Given the description of an element on the screen output the (x, y) to click on. 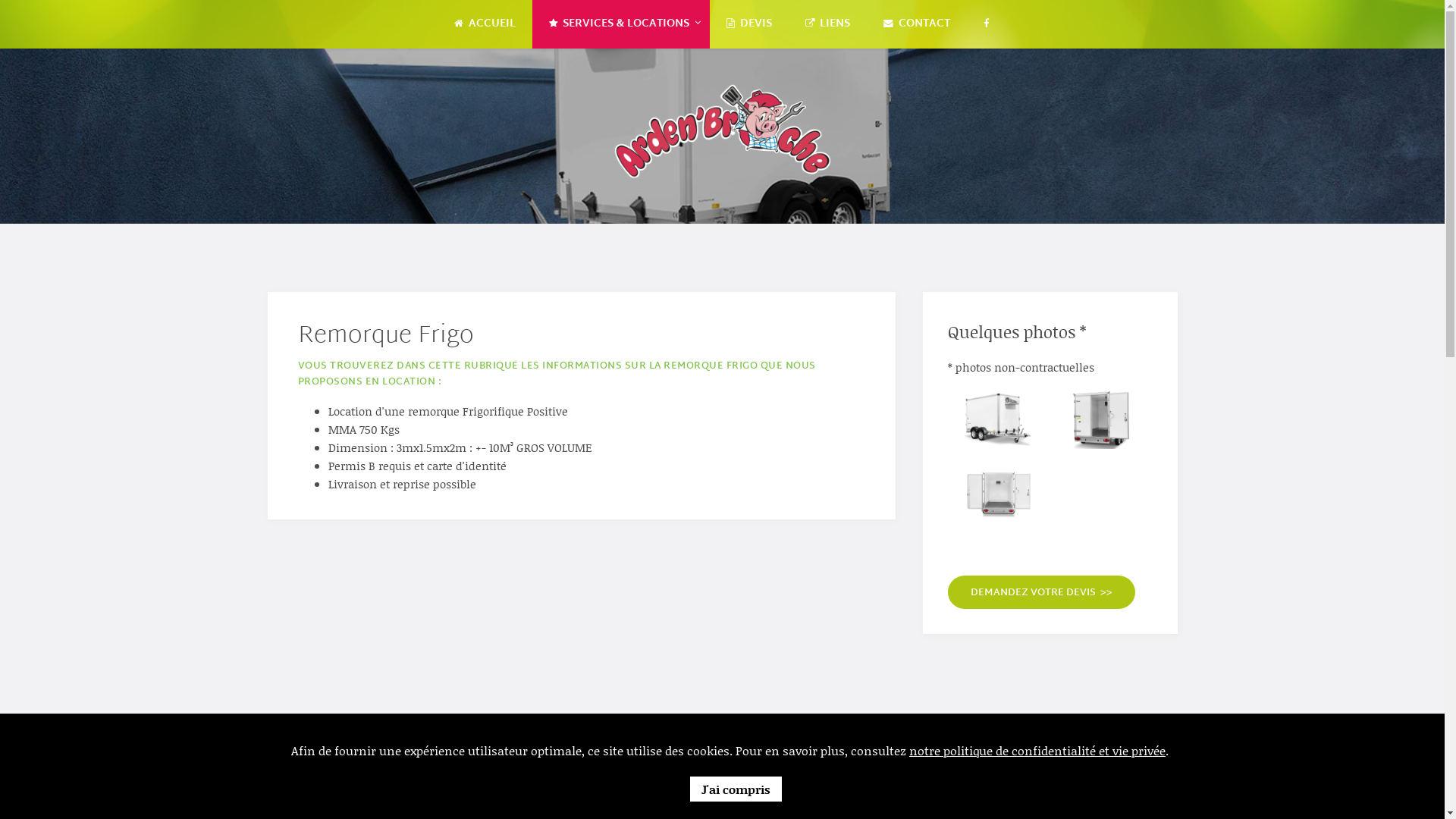
Remorque Frigo Element type: text (385, 335)
Location de remorque frigo Element type: hover (998, 493)
DEVIS Element type: text (748, 24)
CONTACT Element type: text (916, 24)
Location de remorque frigo Element type: hover (998, 417)
DEMANDEZ VOTRE DEVIS  >> Element type: text (1041, 591)
SERVICES & LOCATIONS Element type: text (621, 24)
J'ai compris Element type: text (735, 788)
LIENS Element type: text (827, 24)
ACCUEIL Element type: text (484, 24)
Location de remorque frigo Element type: hover (1100, 417)
